Given the description of an element on the screen output the (x, y) to click on. 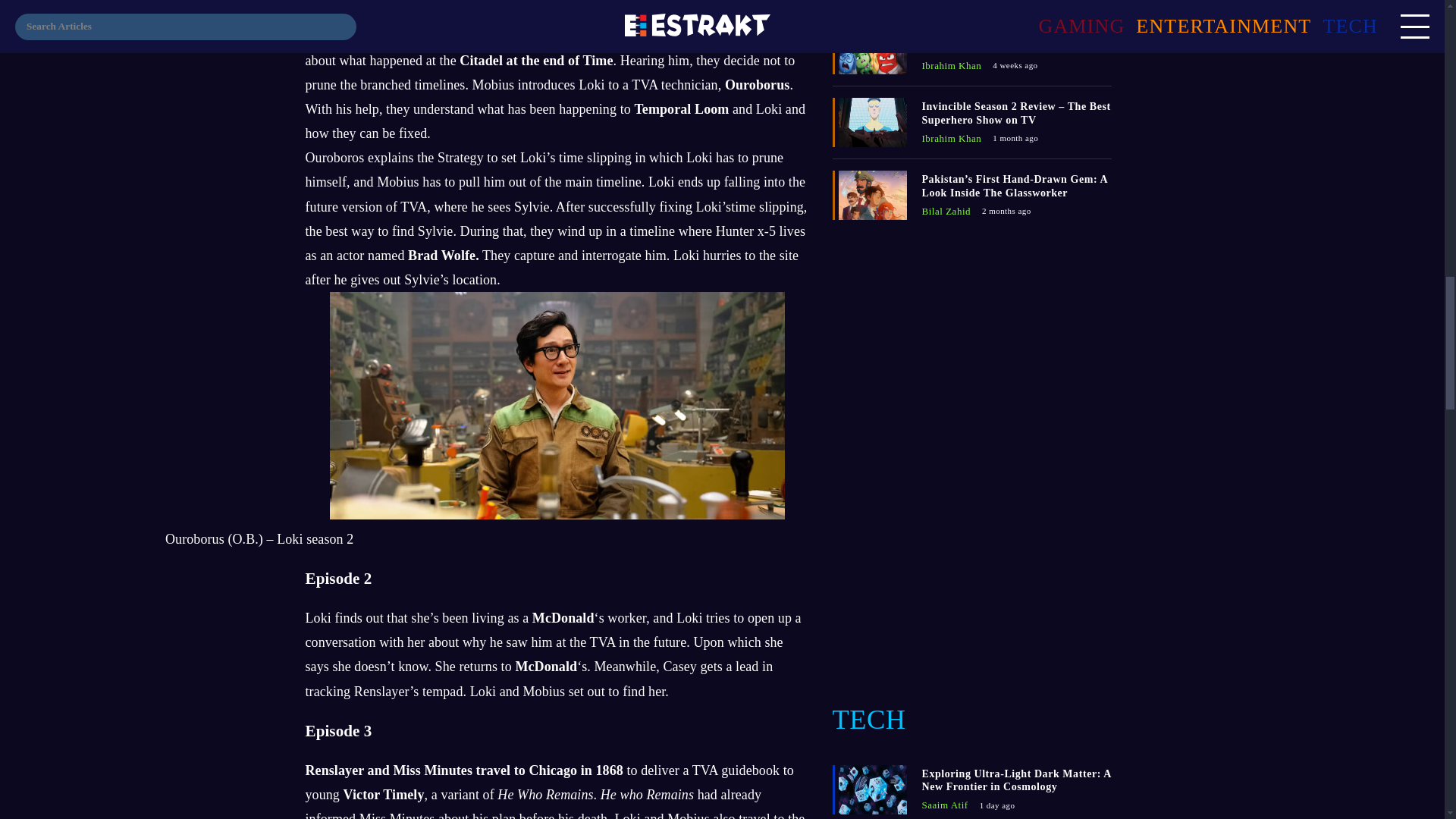
Ibrahim Khan (951, 65)
Bilal Zahid (946, 211)
Ibrahim Khan (951, 138)
